Given the description of an element on the screen output the (x, y) to click on. 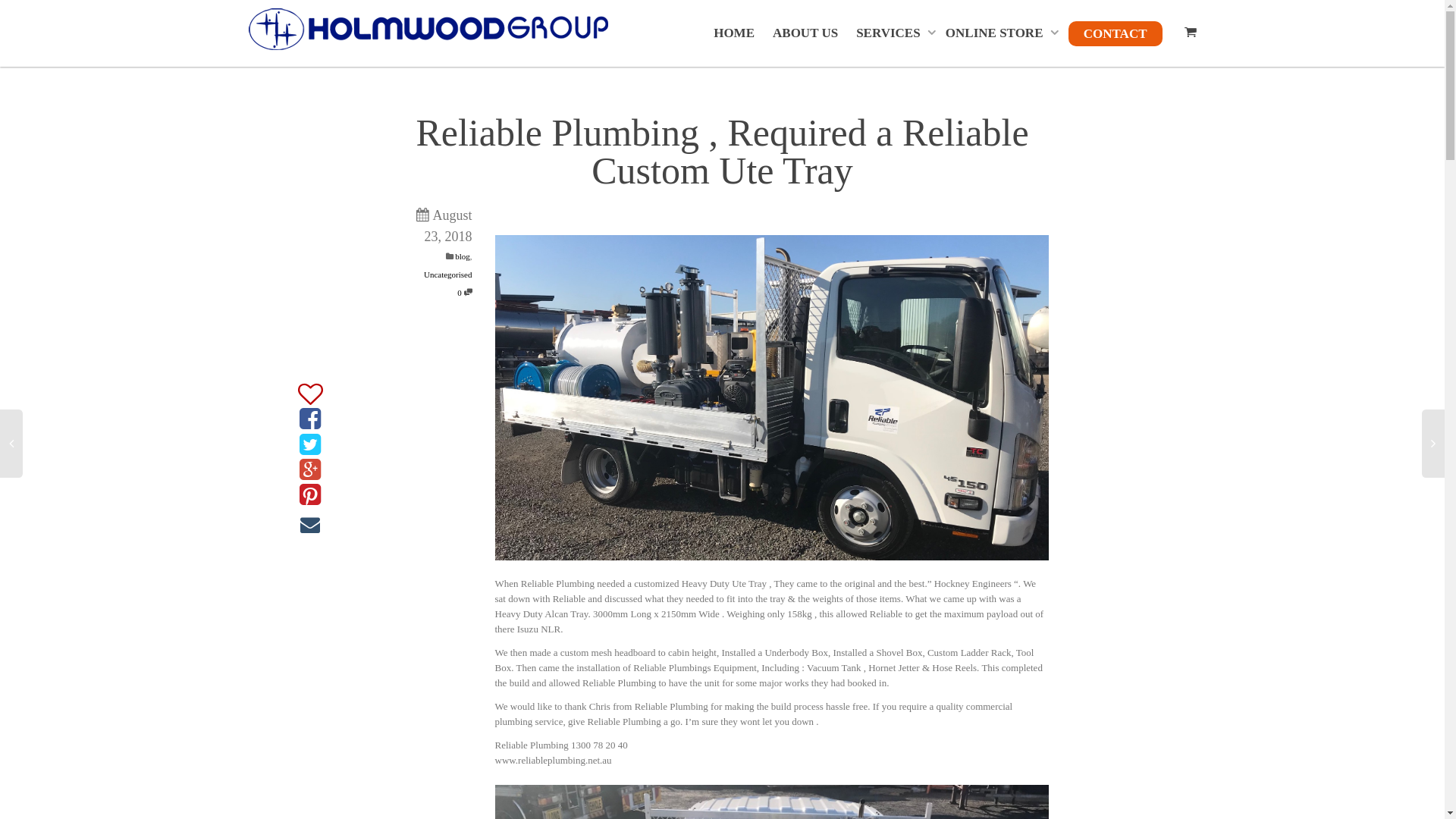
Like this Element type: hover (309, 393)
ABOUT US Element type: text (804, 33)
View Cart Element type: hover (1187, 33)
ONLINE STORE Element type: text (997, 33)
blog Element type: text (462, 255)
0 Element type: text (464, 292)
SERVICES Element type: text (891, 33)
August 23, 2018 Element type: text (433, 237)
CONTACT Element type: text (1115, 33)
Holmwood Group Element type: hover (428, 29)
Uncategorised Element type: text (447, 274)
HOME Element type: text (733, 33)
